Given the description of an element on the screen output the (x, y) to click on. 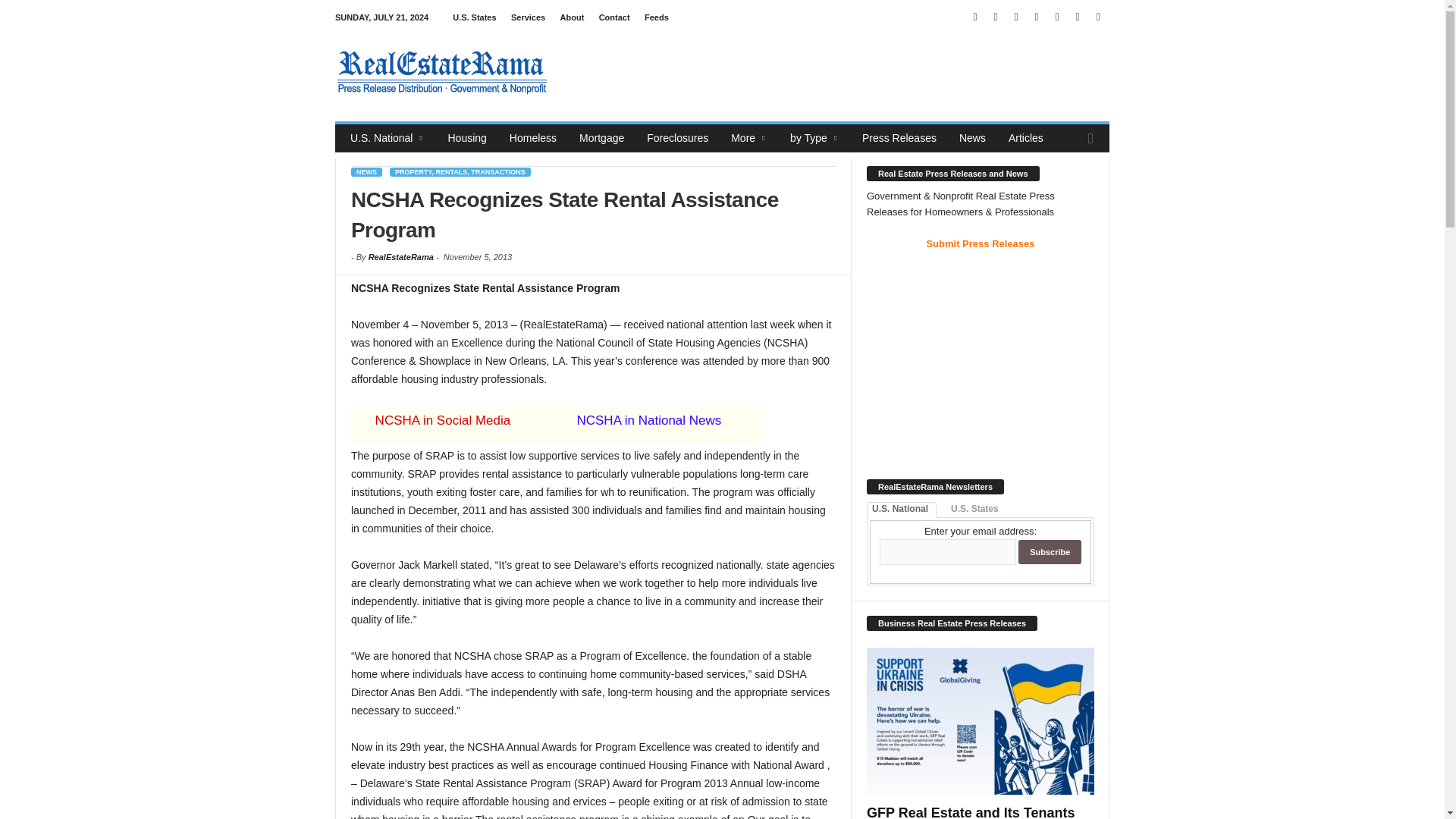
Twitter (1077, 17)
Mail (1016, 17)
RSS (1056, 17)
Facebook (975, 17)
Subscribe (1049, 551)
Youtube (1097, 17)
Advertisement (833, 71)
Pinterest (1036, 17)
Linkedin (995, 17)
